Given the description of an element on the screen output the (x, y) to click on. 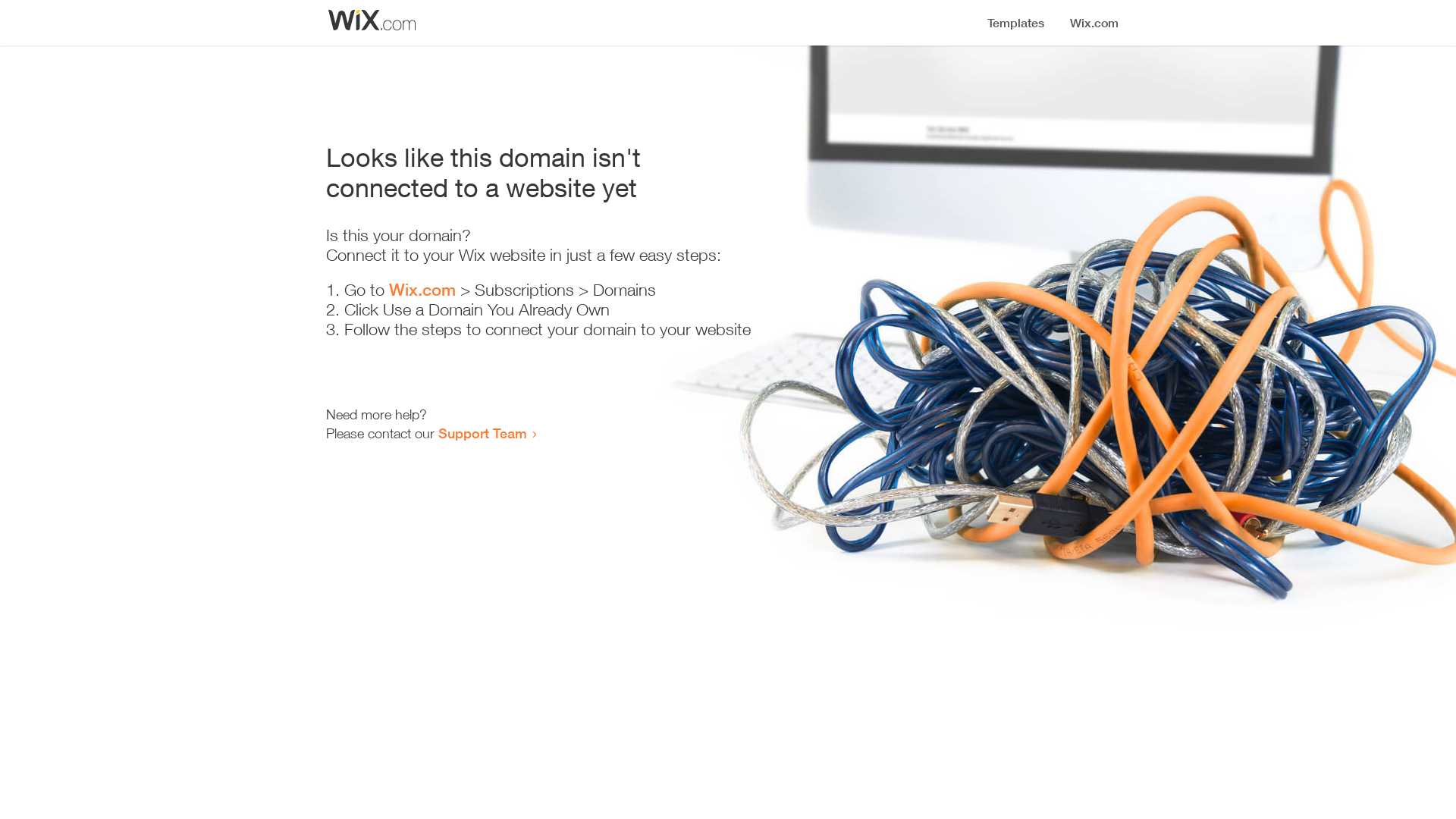
Wix.com Element type: text (422, 289)
Support Team Element type: text (482, 432)
